Given the description of an element on the screen output the (x, y) to click on. 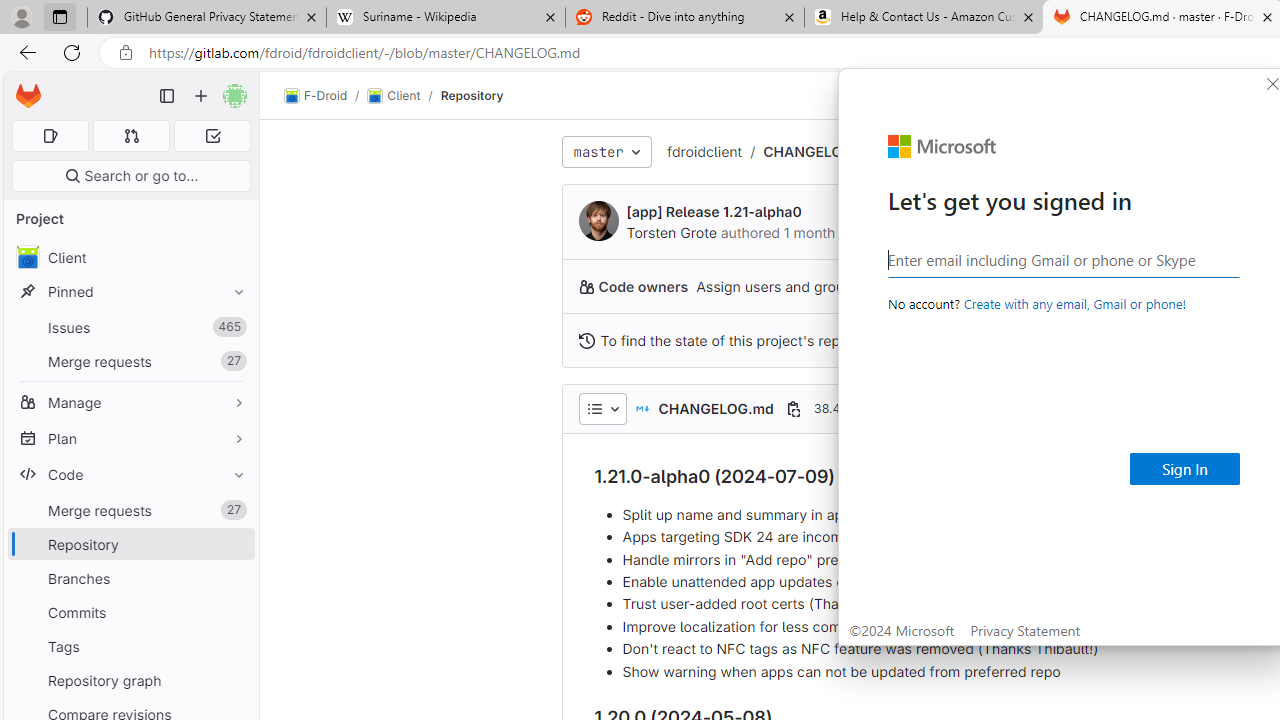
Manage (130, 402)
Pin Repository (234, 544)
To-Do list 0 (212, 136)
Repository graph (130, 679)
Help & Contact Us - Amazon Customer Service (924, 17)
Code (130, 474)
Pin Branches (234, 578)
F-Droid (316, 96)
Repository (472, 95)
Client (130, 257)
Plan (130, 438)
Primary navigation sidebar (167, 96)
avatar (27, 257)
Merge requests 27 (130, 510)
